Given the description of an element on the screen output the (x, y) to click on. 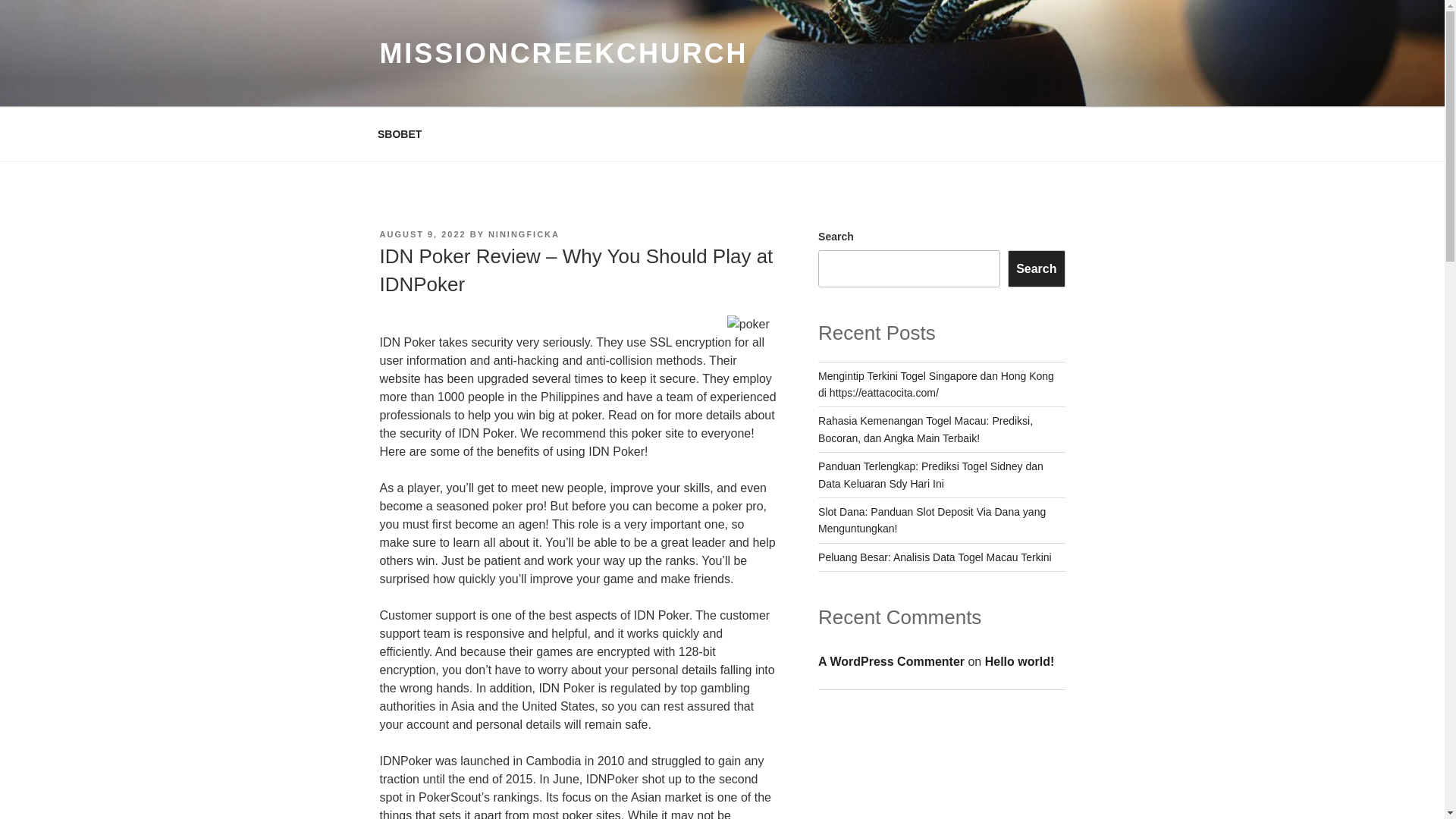
Hello world! (1019, 661)
SBOBET (398, 133)
Slot Dana: Panduan Slot Deposit Via Dana yang Menguntungkan! (931, 520)
Peluang Besar: Analisis Data Togel Macau Terkini (934, 557)
A WordPress Commenter (890, 661)
MISSIONCREEKCHURCH (563, 52)
Search (1035, 268)
AUGUST 9, 2022 (421, 234)
NININGFICKA (523, 234)
